Given the description of an element on the screen output the (x, y) to click on. 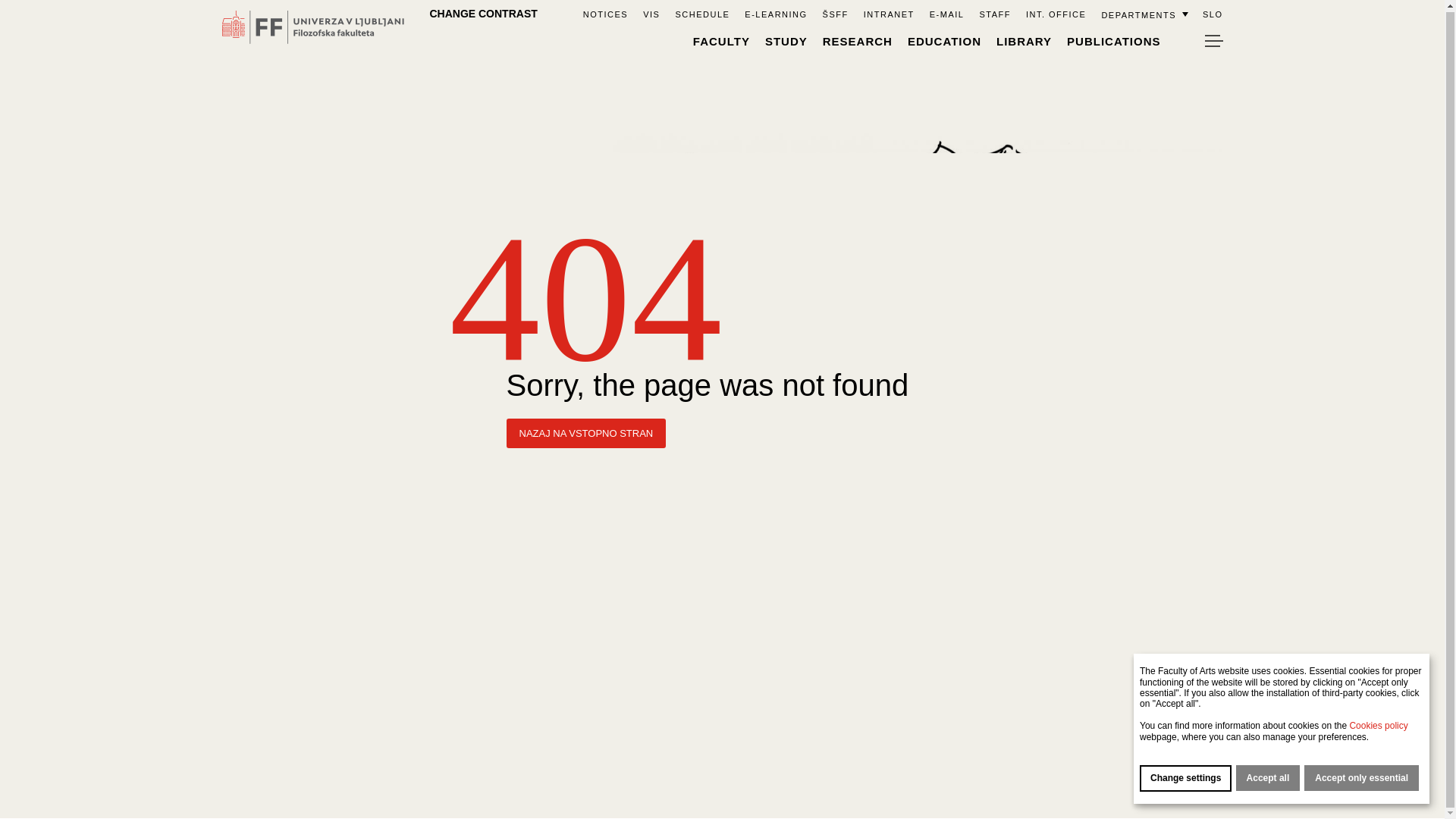
SLO (1212, 13)
International Office (1056, 13)
DEPARTMENTS (1144, 13)
Zaposleni (994, 13)
RESEARCH (857, 40)
SCHEDULE (702, 13)
HOME (558, 12)
E-MAIL (946, 13)
Home (558, 12)
E-LEARNING (775, 13)
NOTICES (605, 13)
Urnik (702, 13)
Intranet (888, 13)
